Given the description of an element on the screen output the (x, y) to click on. 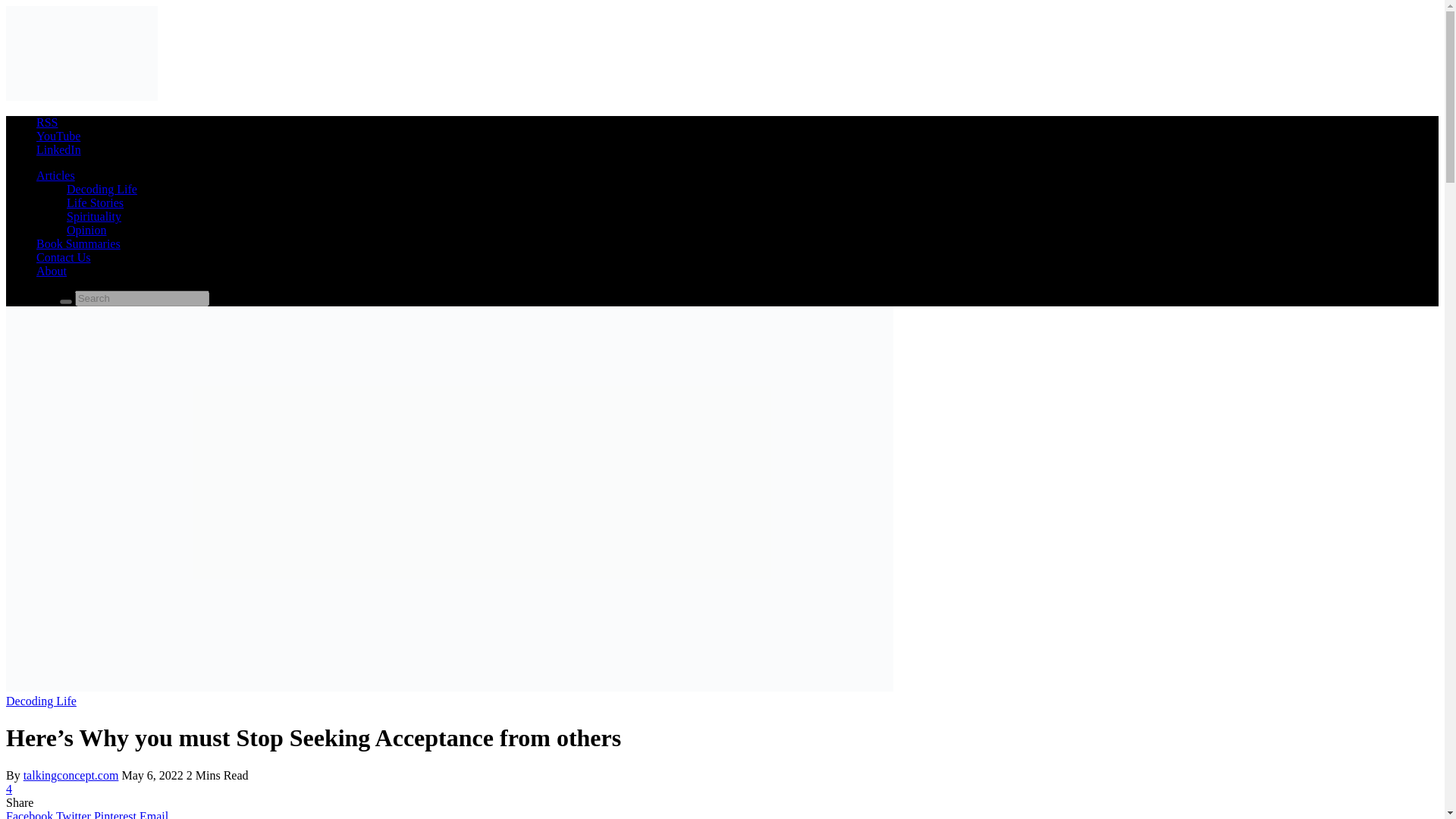
Pinterest (116, 814)
Twitter (75, 814)
About (51, 270)
Contact Us (63, 256)
talkingconcept.com (81, 96)
Posts by talkingconcept.com (71, 775)
Pinterest (116, 814)
Facebook (30, 814)
talkingconcept.com (71, 775)
Email (153, 814)
